Given the description of an element on the screen output the (x, y) to click on. 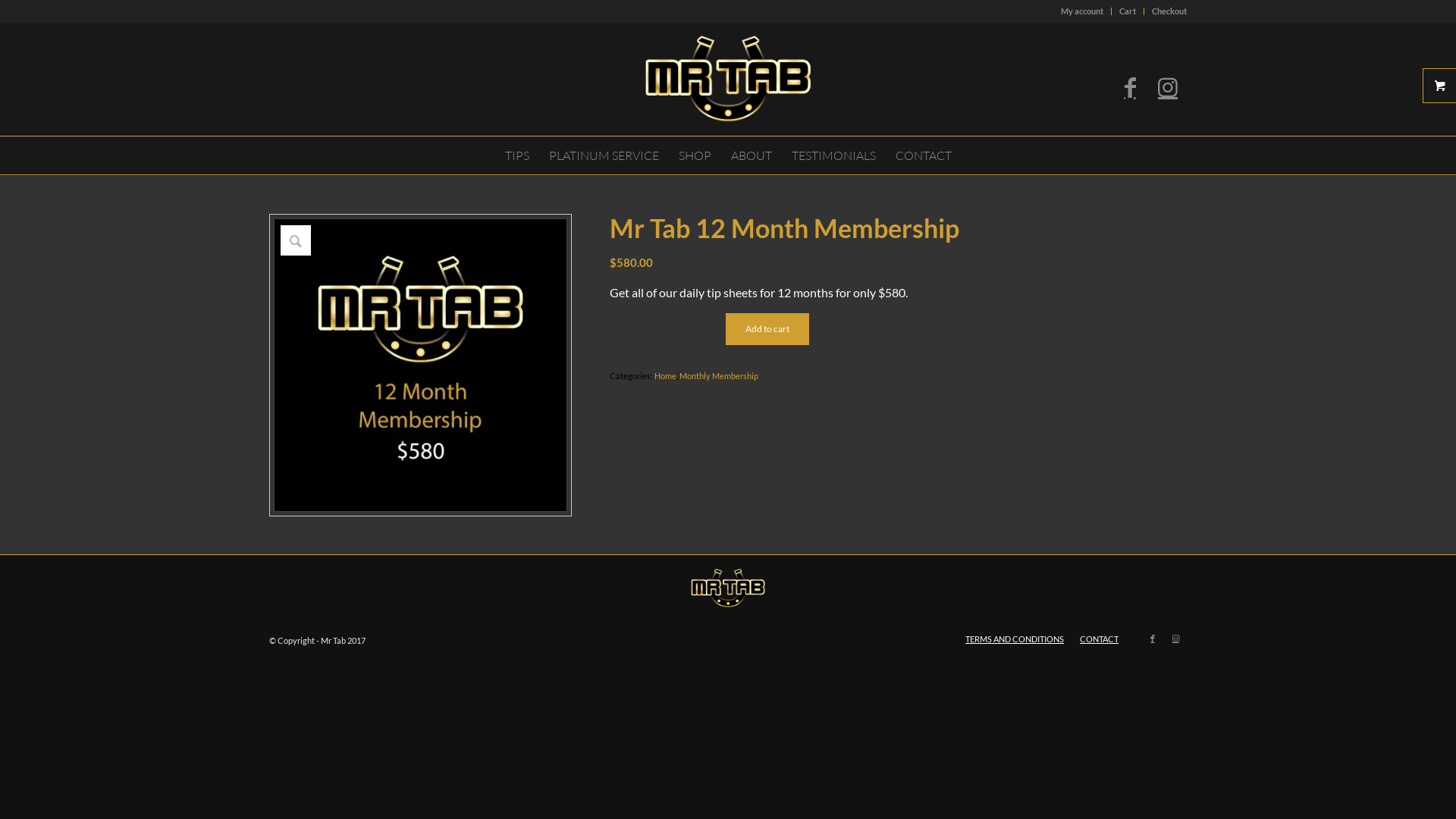
CONTACT Element type: text (923, 155)
Instagram Element type: hover (1167, 86)
SHOP Element type: text (694, 155)
Monthly Membership Element type: text (718, 375)
Cart Element type: text (1127, 10)
TIPS Element type: text (516, 155)
Facebook Element type: hover (1152, 638)
ABOUT Element type: text (750, 155)
CONTACT Element type: text (1098, 638)
PLATINUM SERVICE Element type: text (603, 155)
My account Element type: text (1081, 10)
Checkout Element type: text (1168, 10)
TESTIMONIALS Element type: text (832, 155)
Facebook Element type: hover (1129, 86)
TERMS AND CONDITIONS Element type: text (1014, 638)
Home Element type: text (665, 375)
12monthnew Element type: hover (420, 364)
Add to cart Element type: text (767, 329)
Instagram Element type: hover (1175, 638)
